Given the description of an element on the screen output the (x, y) to click on. 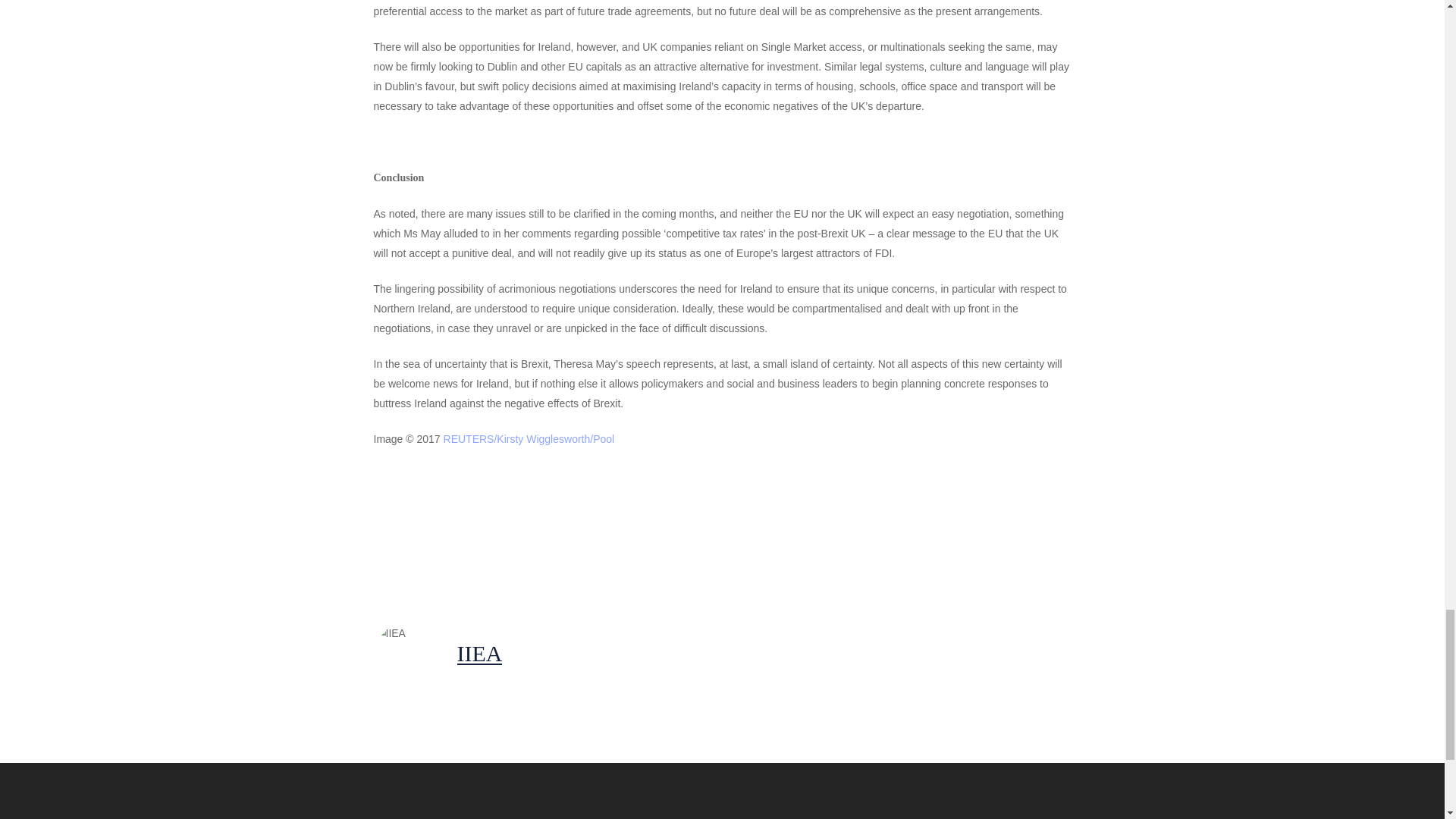
Share (414, 531)
Pin this (692, 531)
Tweet (510, 531)
Share this (414, 531)
Pin (692, 531)
Share this (604, 531)
Share (604, 531)
Tweet this (510, 531)
IIEA (479, 652)
